Given the description of an element on the screen output the (x, y) to click on. 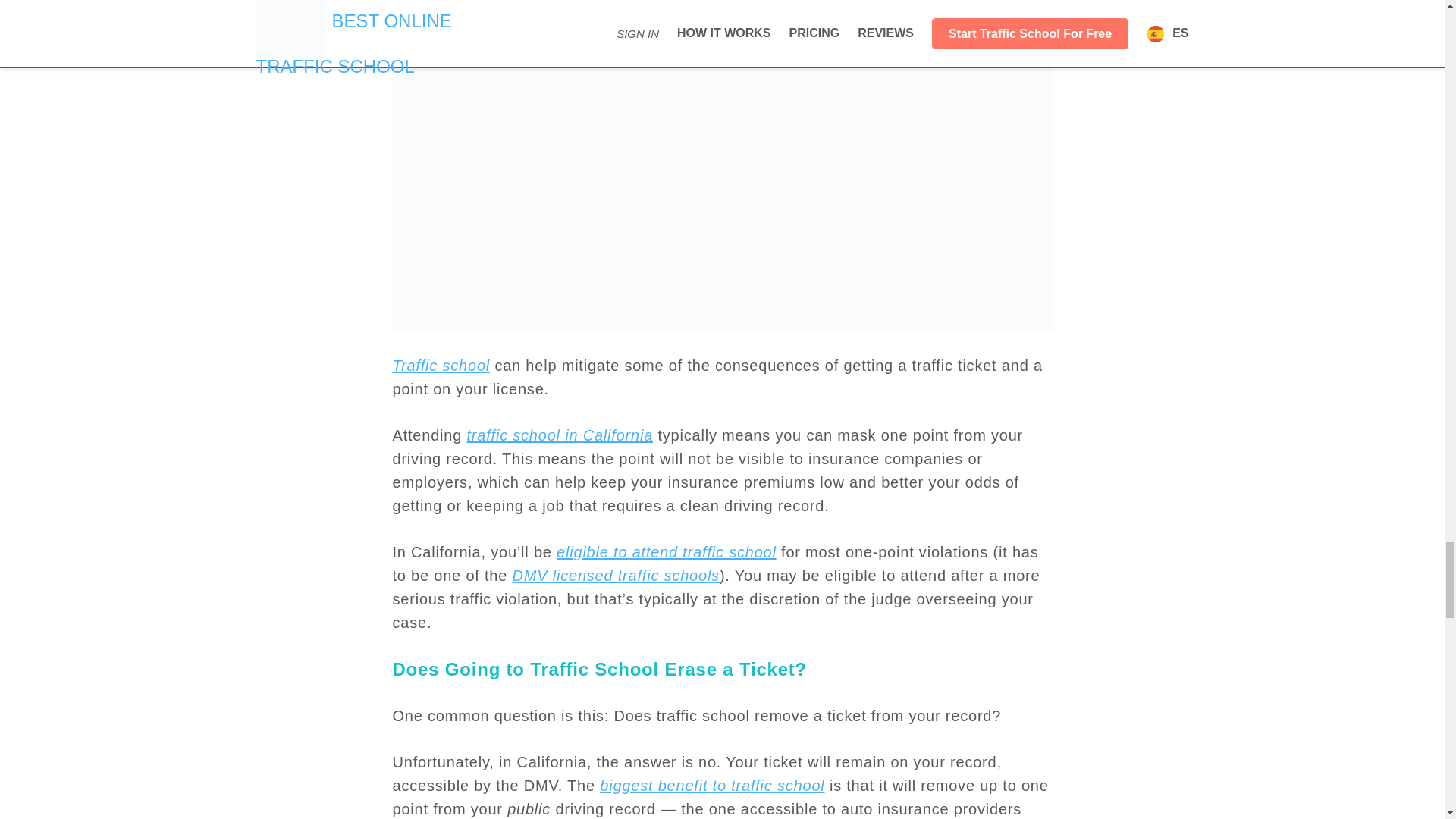
eligible to attend traffic school (666, 551)
traffic school in California (560, 434)
biggest benefit to traffic school (711, 785)
DMV licensed traffic schools (615, 575)
Traffic school (441, 365)
